Given the description of an element on the screen output the (x, y) to click on. 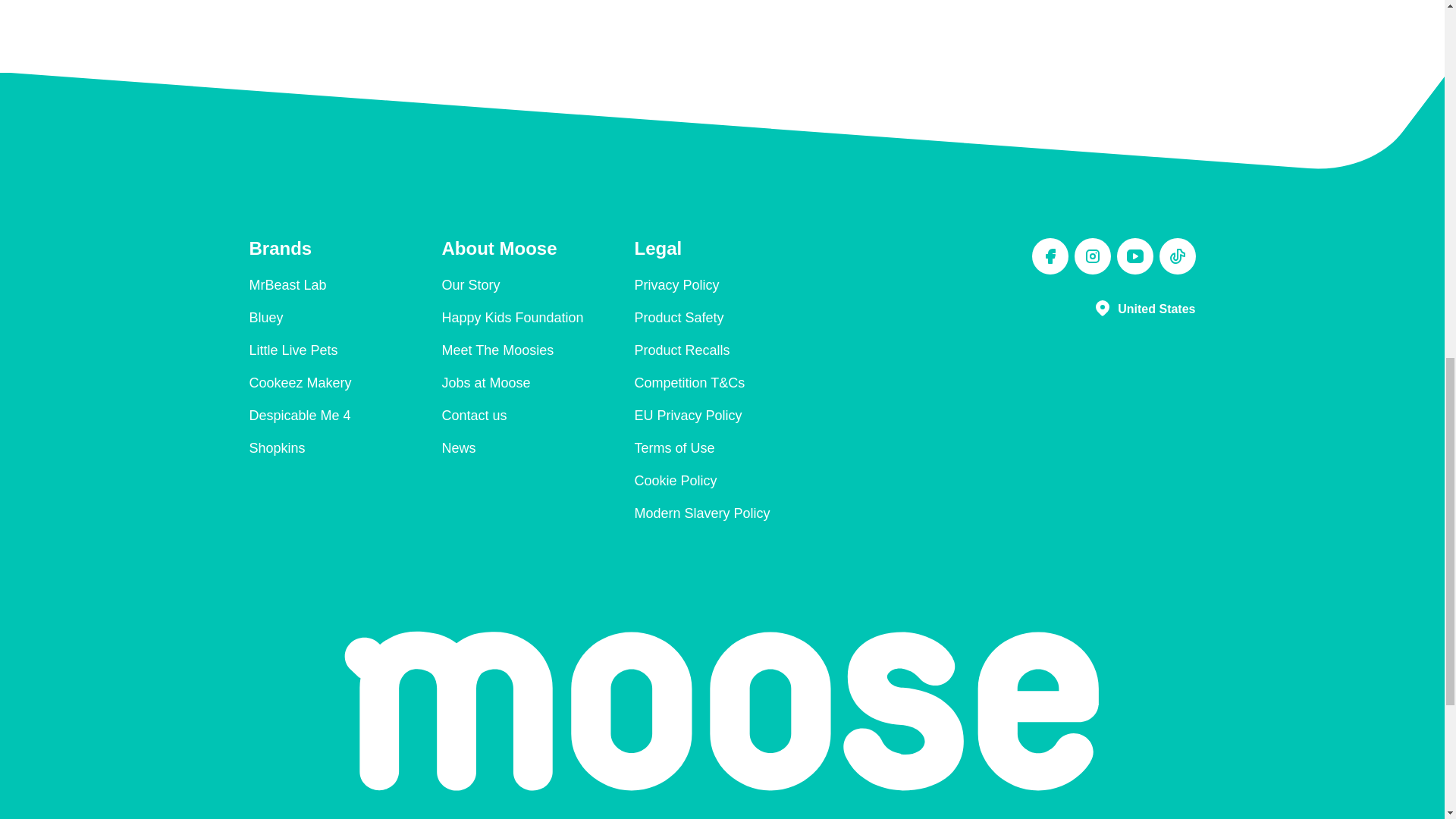
Facebook (1048, 256)
Little Live Pets (292, 350)
MrBeast Lab (287, 284)
EU Privacy Policy (687, 415)
Cookie Policy (674, 480)
Happy Kids Foundation (512, 317)
Product Safety (678, 317)
Despicable Me 4 (299, 415)
Privacy Policy (676, 284)
Shopkins (276, 448)
